Given the description of an element on the screen output the (x, y) to click on. 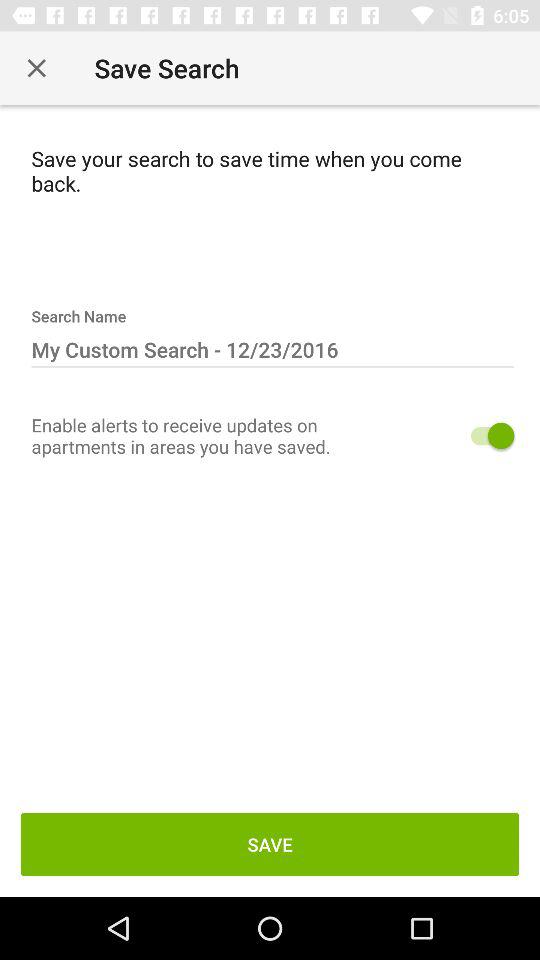
close (36, 68)
